Given the description of an element on the screen output the (x, y) to click on. 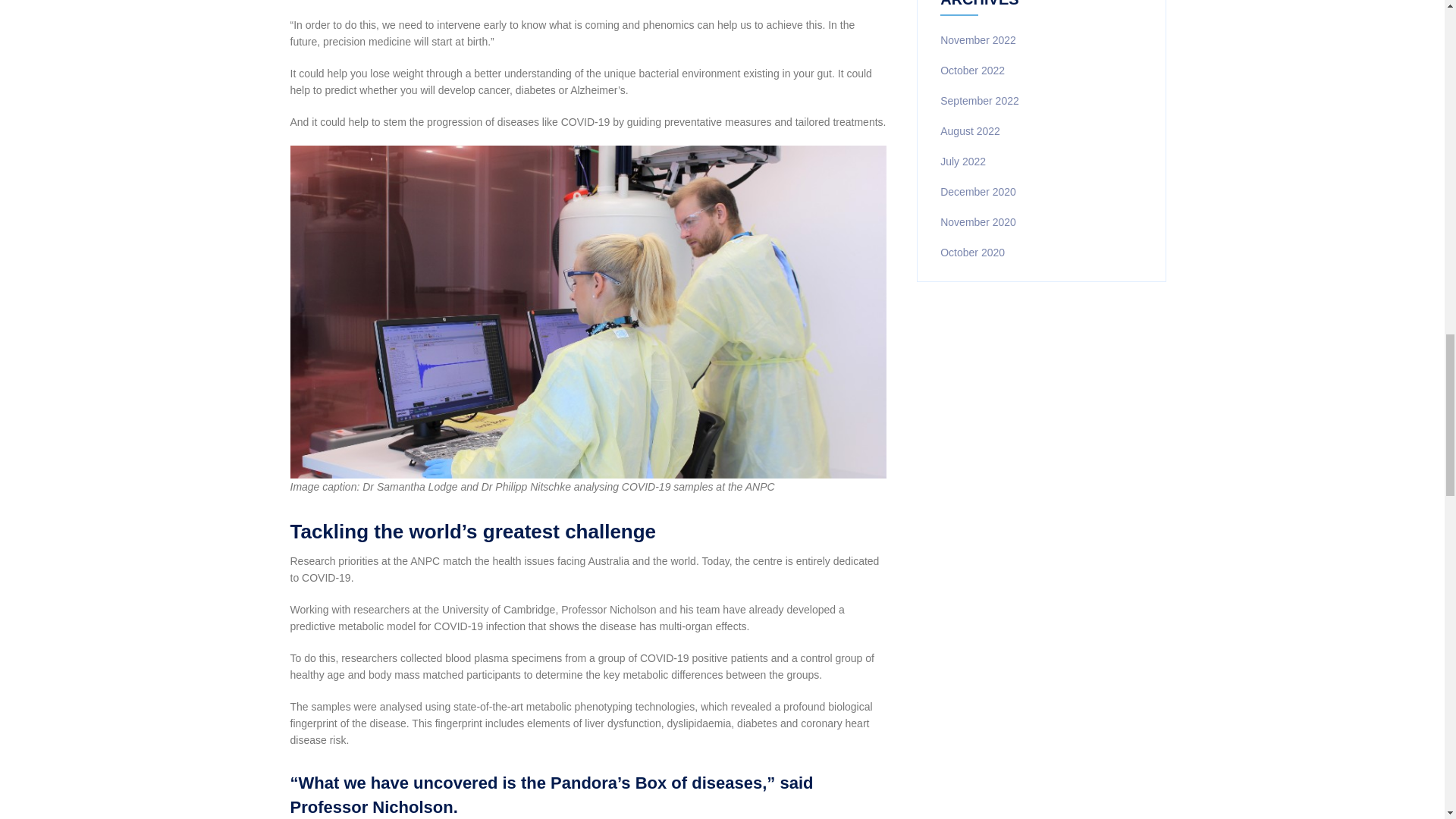
September 2022 (979, 101)
October 2022 (972, 70)
November 2022 (978, 39)
